Given the description of an element on the screen output the (x, y) to click on. 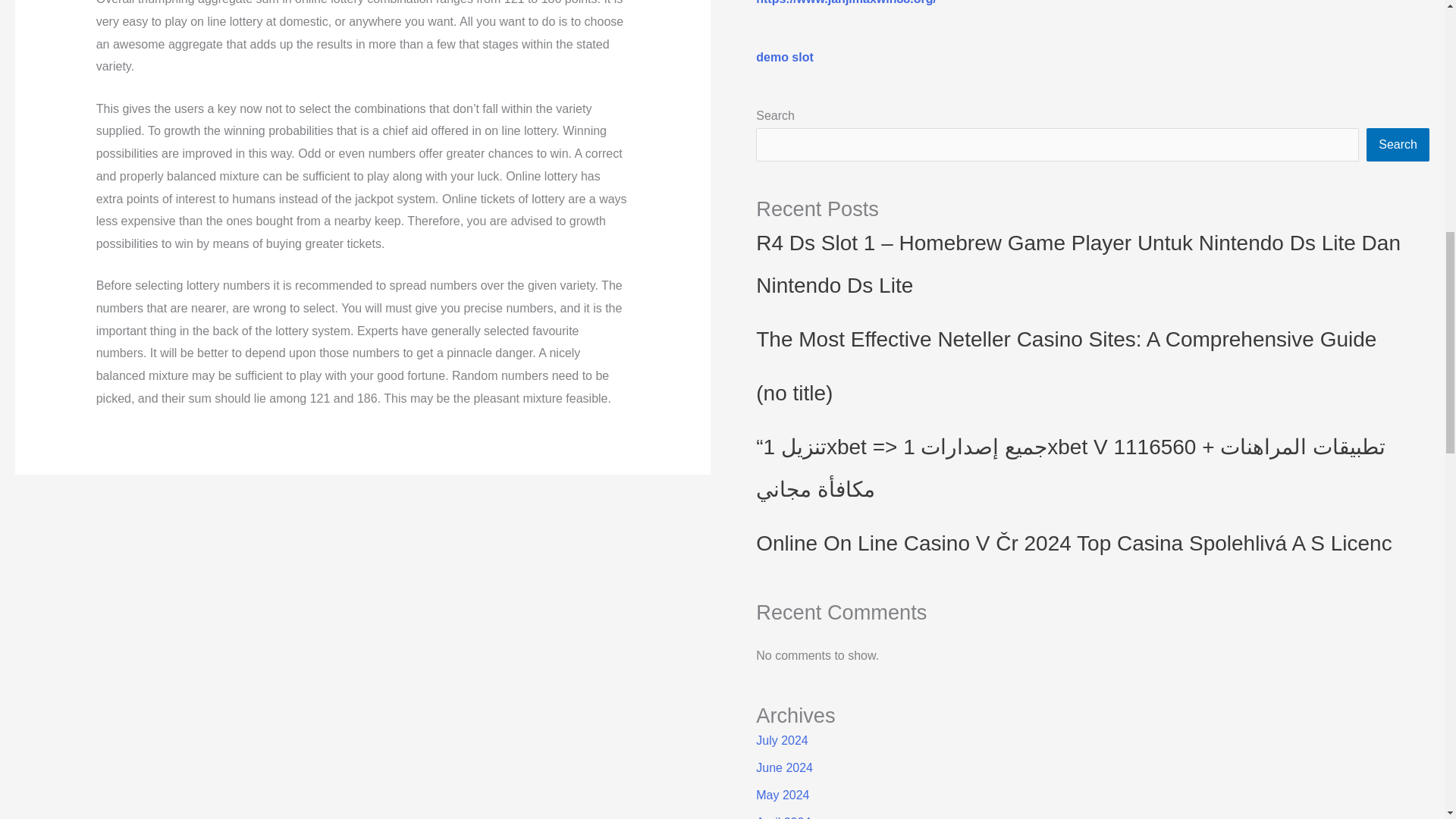
June 2024 (783, 767)
demo slot (784, 56)
May 2024 (782, 794)
Search (1398, 144)
July 2024 (781, 739)
April 2024 (782, 817)
